Given the description of an element on the screen output the (x, y) to click on. 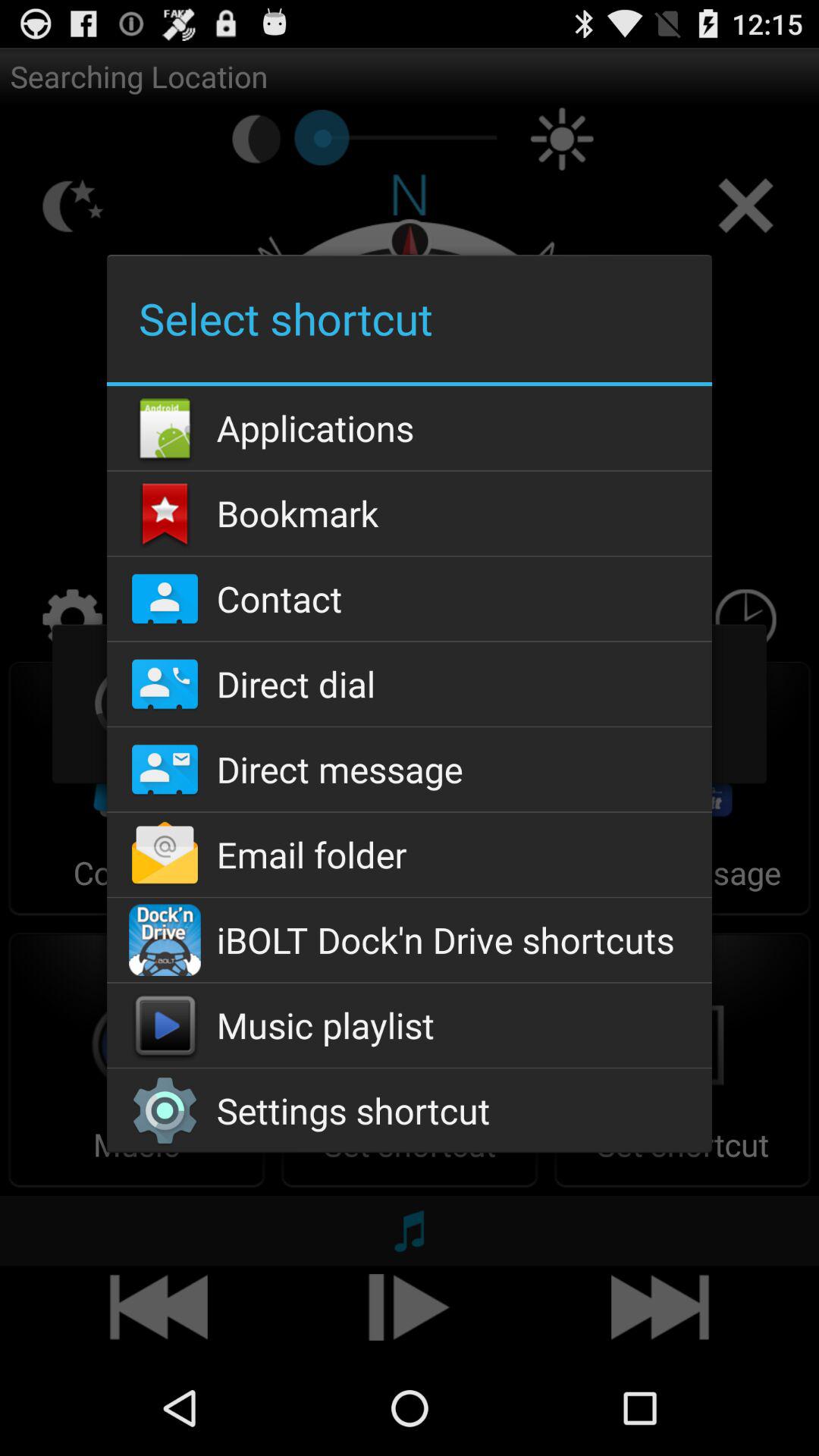
launch icon above the email folder app (409, 769)
